Given the description of an element on the screen output the (x, y) to click on. 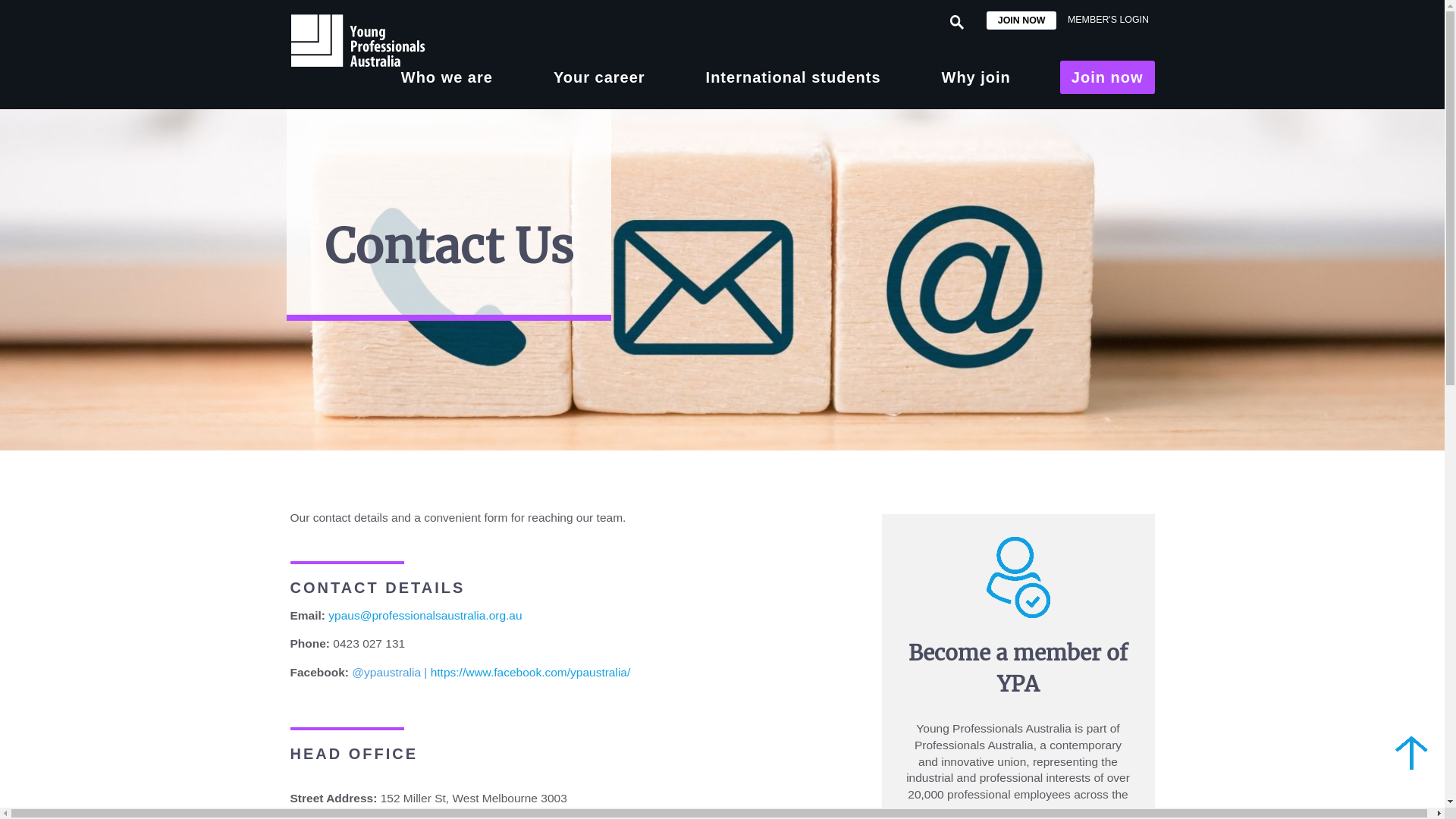
Why join Element type: text (975, 77)
Go Element type: text (20, 19)
Young Professional Australia Element type: text (384, 39)
https://www.facebook.com/ypaustralia/ Element type: text (530, 671)
JOIN NOW Element type: text (1021, 20)
Your career Element type: text (599, 77)
Who we are Element type: text (446, 77)
MEMBER'S LOGIN Element type: text (1107, 19)
Join now Element type: text (1107, 77)
ypaus@professionalsaustralia.org.au Element type: text (424, 614)
International students Element type: text (793, 77)
Back to Top Element type: text (1412, 752)
